Given the description of an element on the screen output the (x, y) to click on. 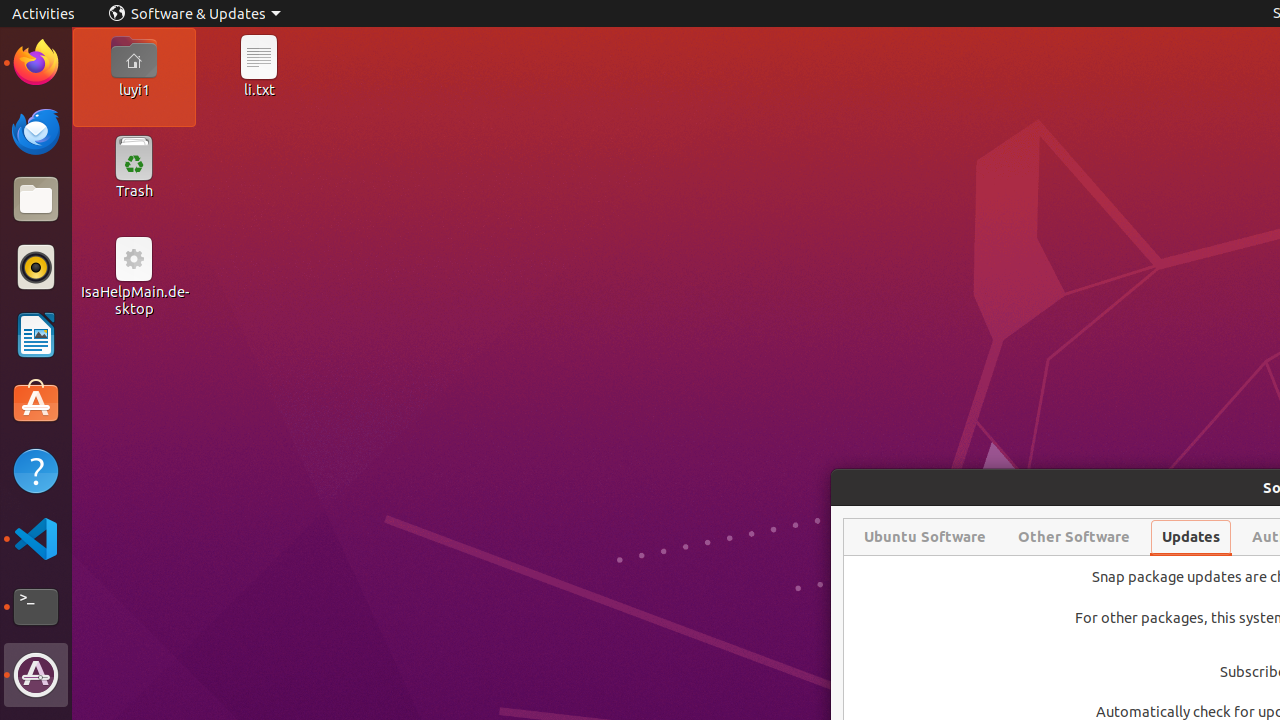
Updates Element type: page-tab (1191, 537)
Firefox Web Browser Element type: push-button (36, 63)
